Given the description of an element on the screen output the (x, y) to click on. 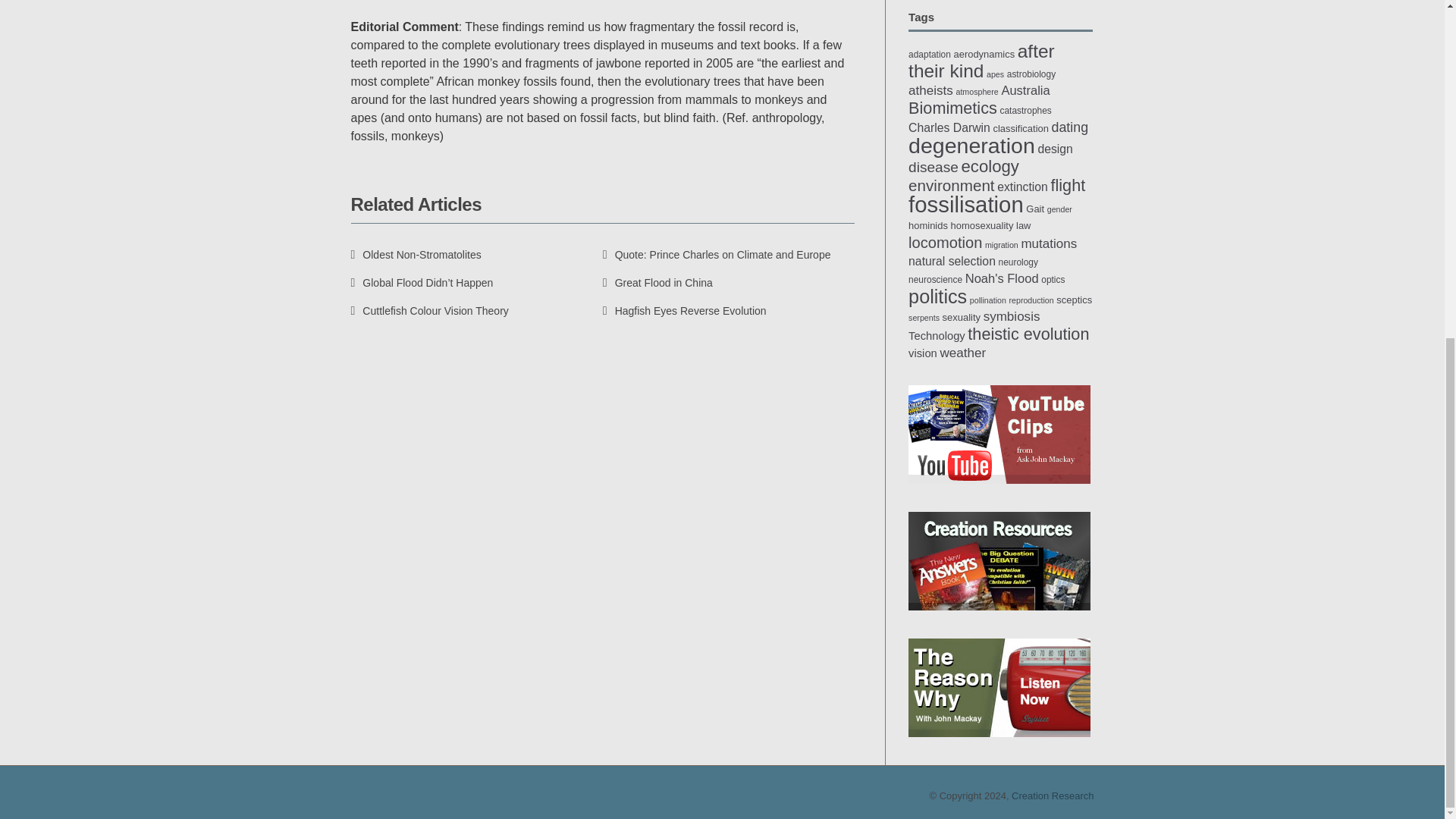
Oldest Non-Stromatolites (415, 254)
apes (995, 73)
classification (1020, 128)
astrobiology (1031, 73)
Great Flood in China (657, 282)
Quote: Prince Charles on Climate and Europe (716, 254)
Cuttlefish Colour Vision Theory (429, 310)
Hagfish Eyes Reverse Evolution (684, 310)
Charles Darwin (949, 127)
Oldest Non-Stromatolites (415, 254)
aerodynamics (983, 53)
catastrophes (1024, 110)
Biomimetics (952, 107)
atmosphere (976, 91)
after their kind (981, 60)
